Given the description of an element on the screen output the (x, y) to click on. 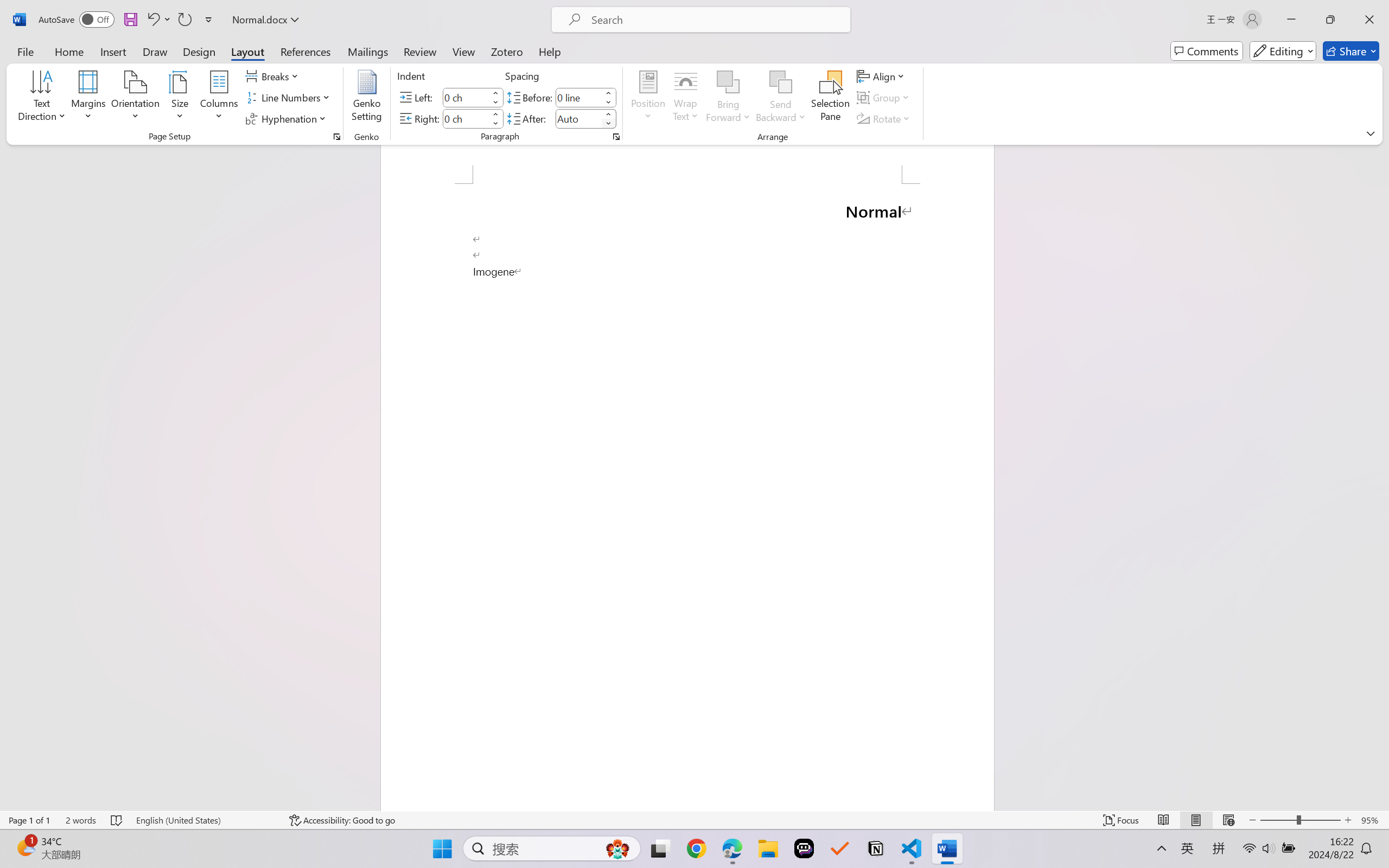
Group (884, 97)
Undo Paragraph Formatting (152, 19)
Class: NetUIScrollBar (1382, 477)
Page Number Page 1 of 1 (29, 819)
Microsoft search (715, 19)
Line Numbers (289, 97)
Hyphenation (287, 118)
Wrap Text (685, 97)
Help (549, 51)
